Given the description of an element on the screen output the (x, y) to click on. 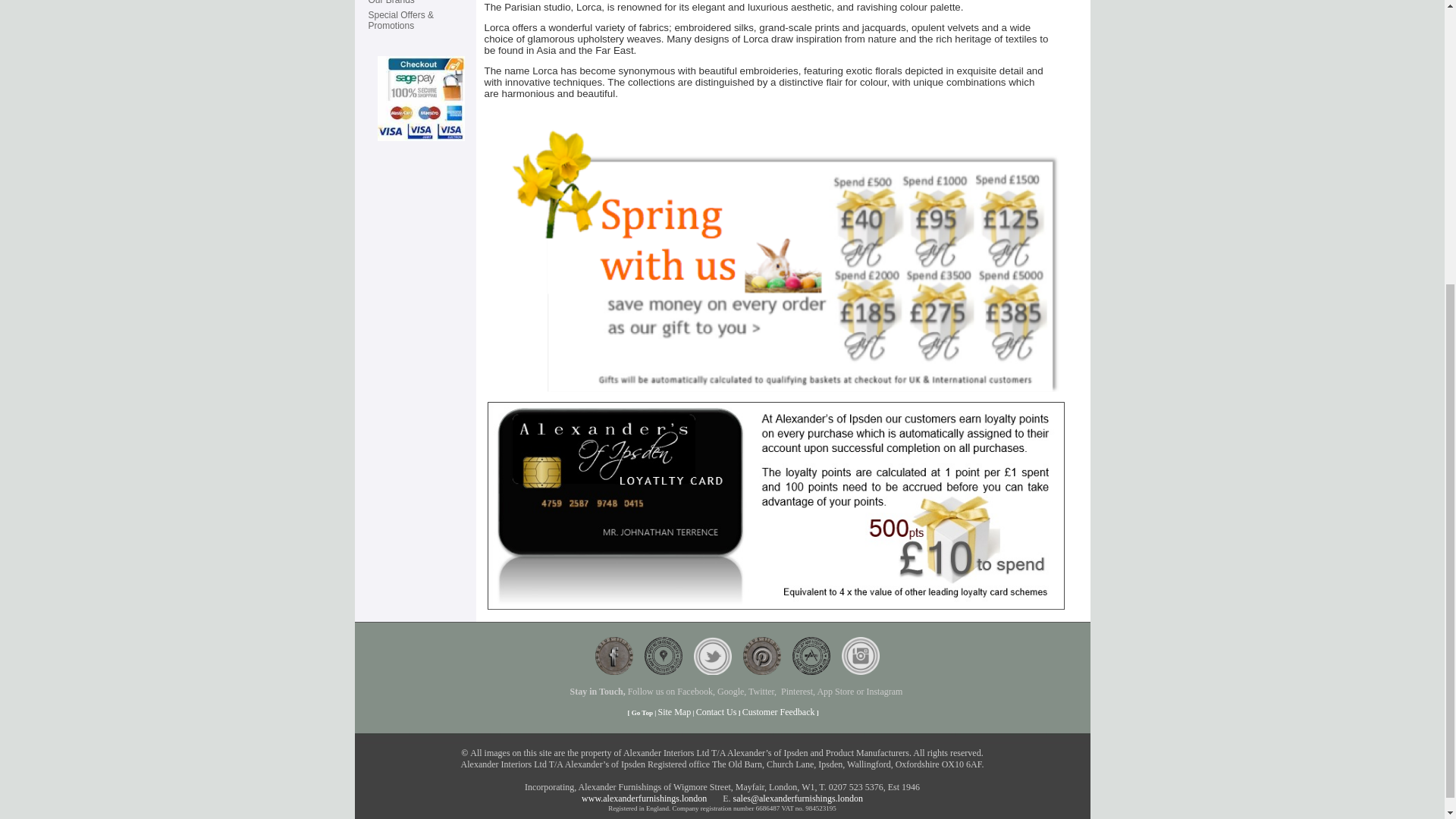
Our Brands (391, 2)
Site Map (674, 711)
Contact Us (715, 711)
www.alexanderfurnishings.london (643, 798)
Customer Feedback (778, 711)
Go Top (641, 712)
